Given the description of an element on the screen output the (x, y) to click on. 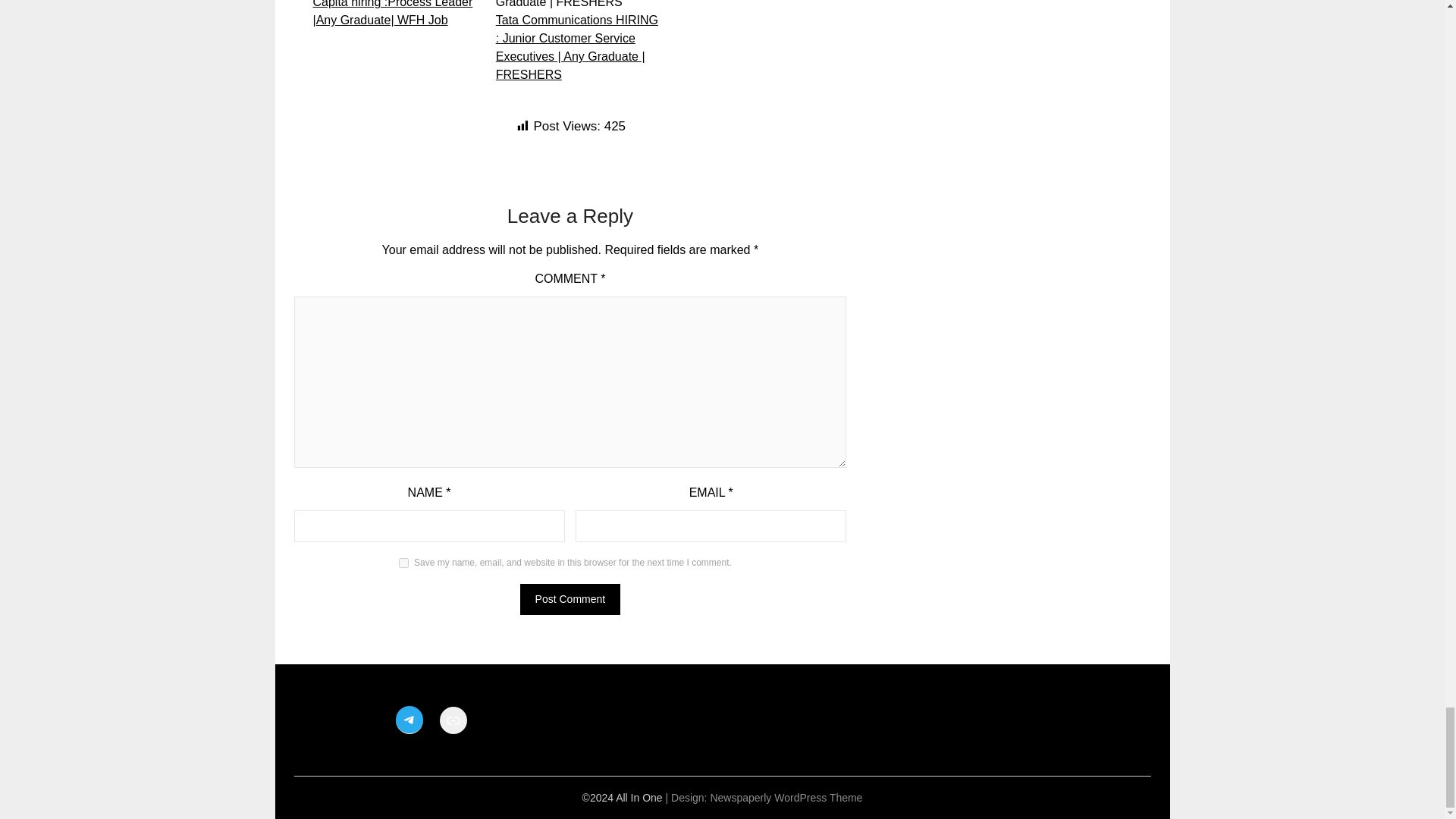
Post Comment (570, 599)
Post Comment (570, 599)
yes (403, 562)
